Given the description of an element on the screen output the (x, y) to click on. 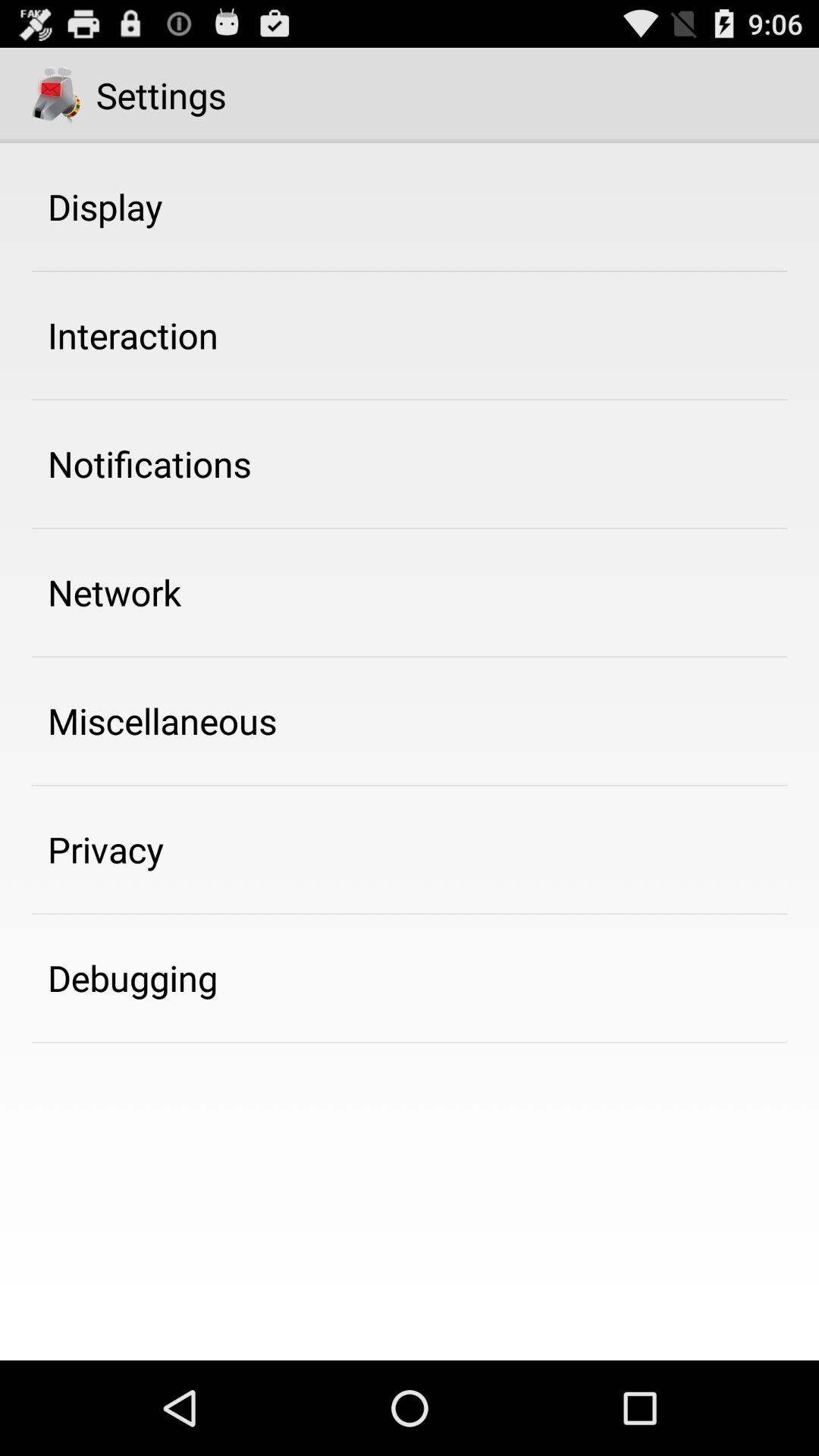
launch app below the network (161, 720)
